Given the description of an element on the screen output the (x, y) to click on. 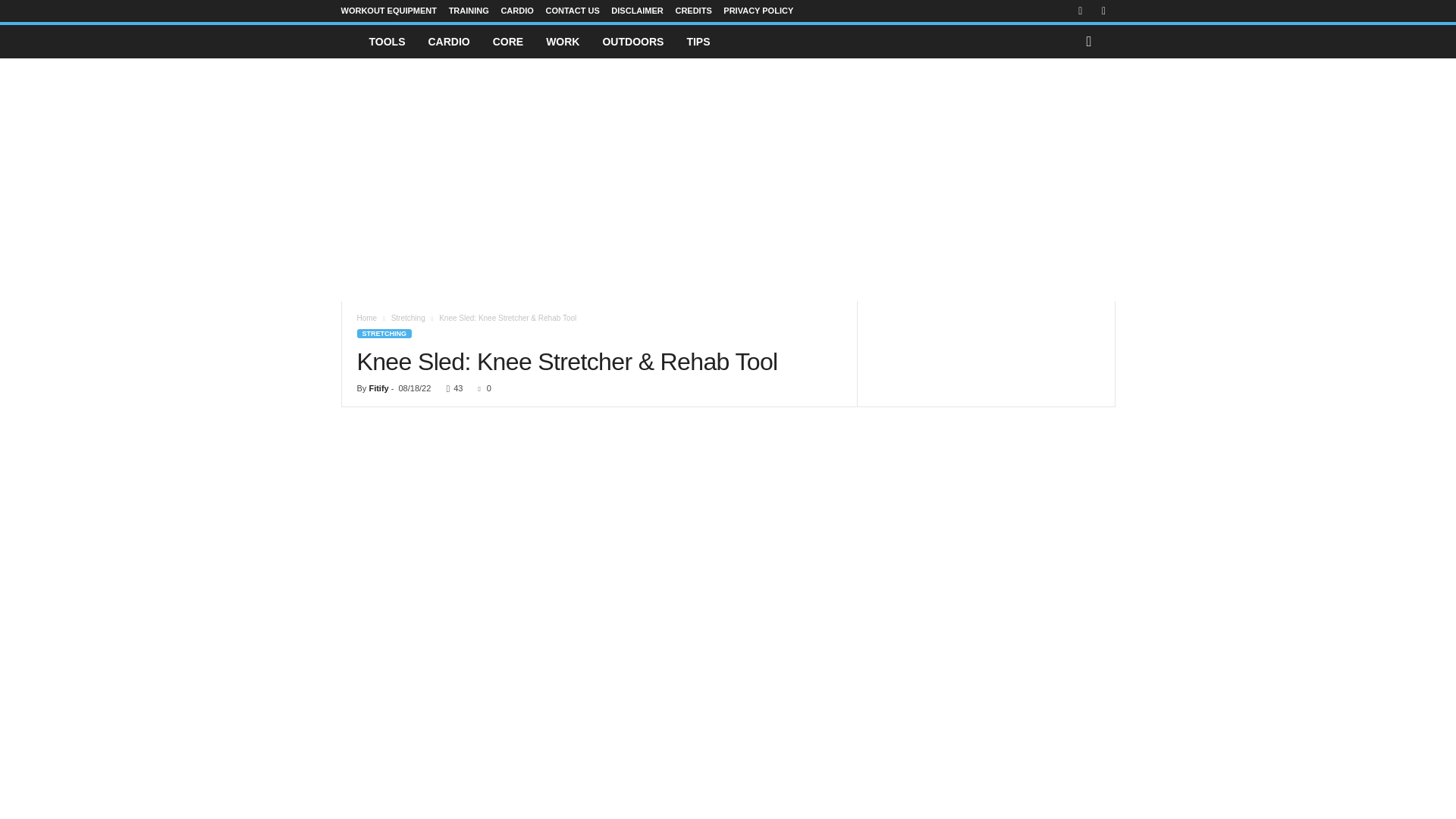
Fitness Gizmos (349, 41)
PRIVACY POLICY (758, 10)
CONTACT US (571, 10)
TOOLS (387, 41)
WORKOUT EQUIPMENT (389, 10)
CARDIO (516, 10)
CREDITS (693, 10)
TRAINING (468, 10)
DISCLAIMER (636, 10)
